Given the description of an element on the screen output the (x, y) to click on. 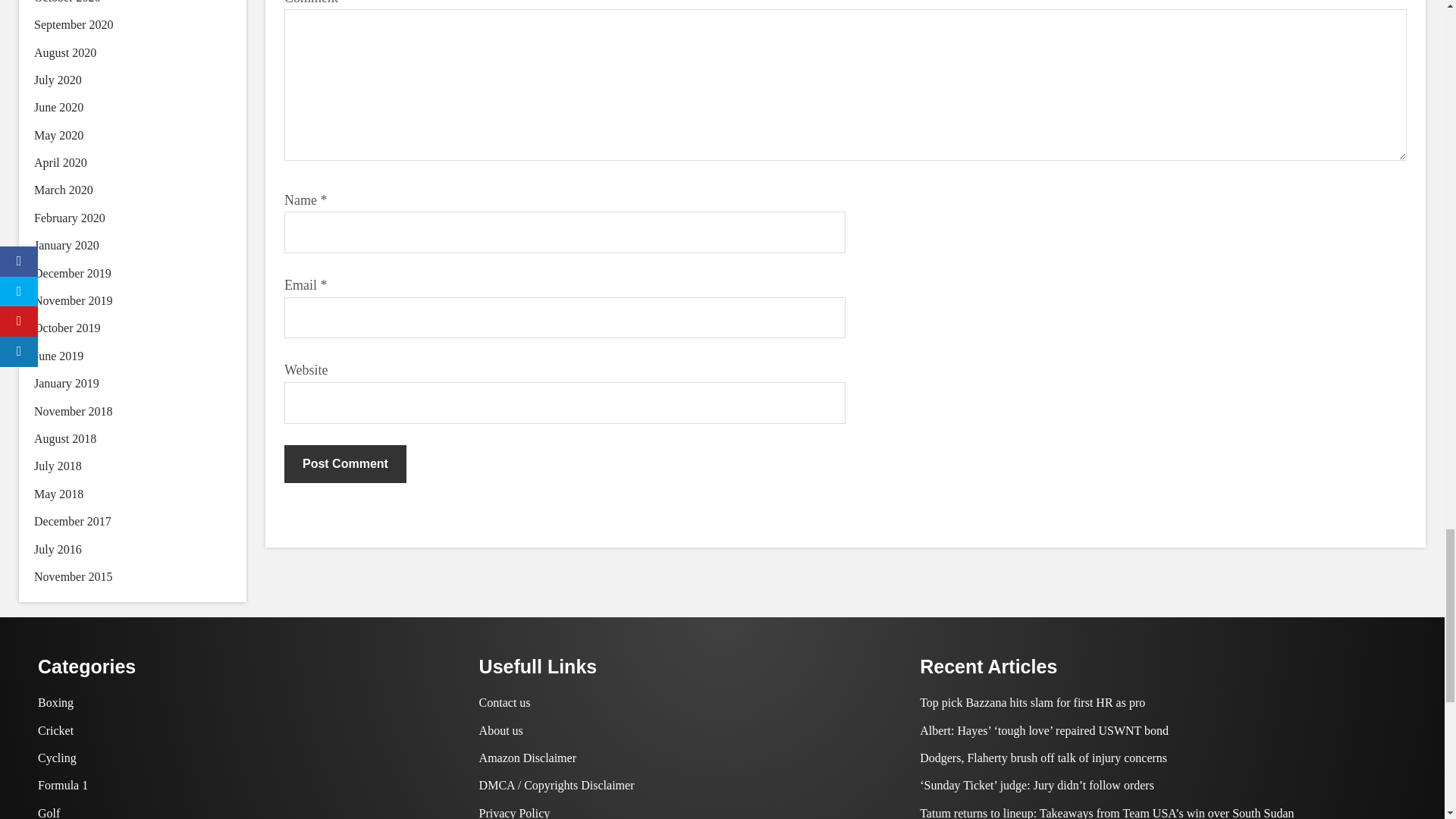
Post Comment (344, 464)
